Given the description of an element on the screen output the (x, y) to click on. 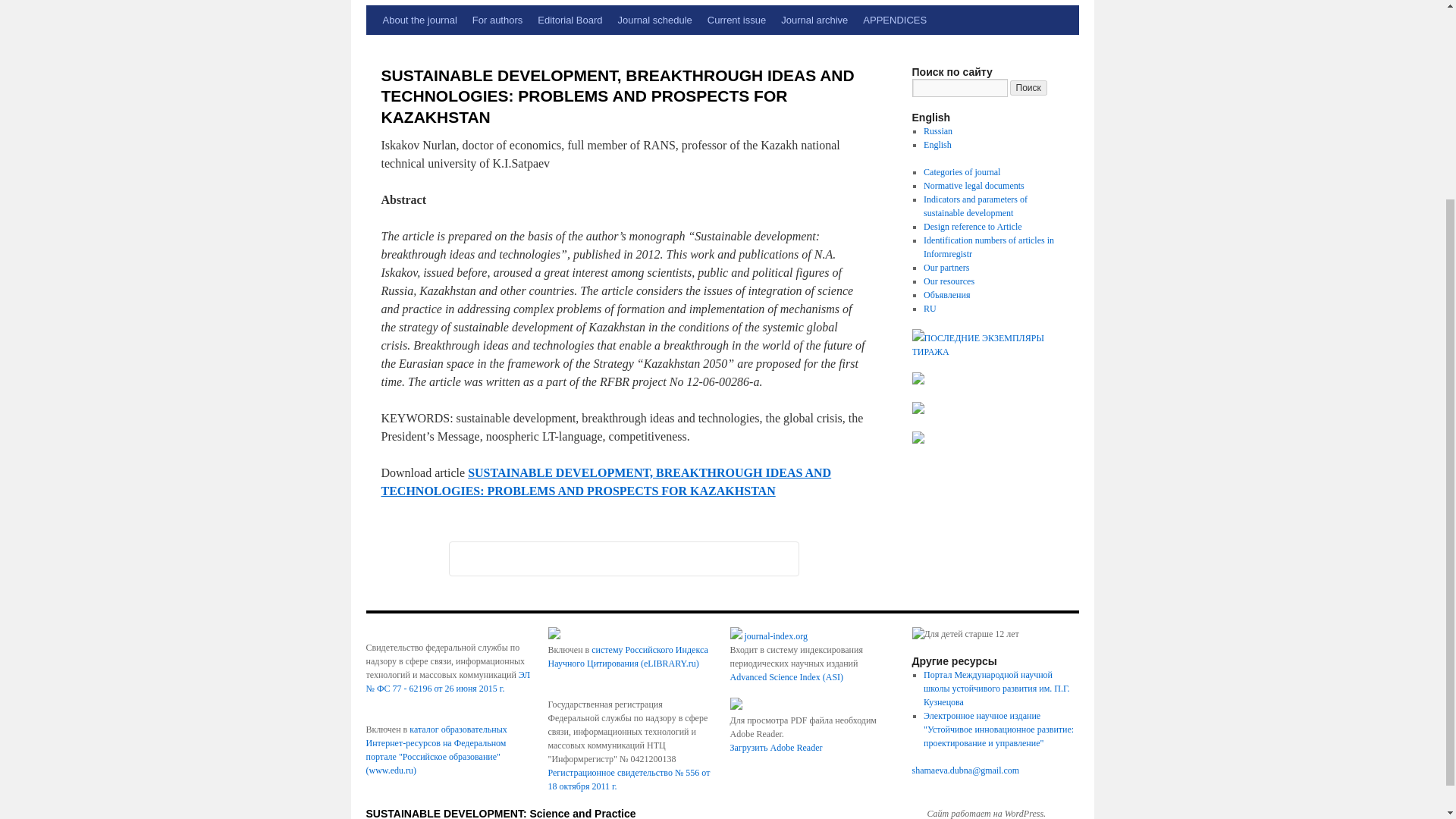
For authors (496, 20)
Editorial Board (569, 20)
About the journal (419, 20)
Journal archive (814, 20)
Journal schedule (655, 20)
Current issue (736, 20)
